Given the description of an element on the screen output the (x, y) to click on. 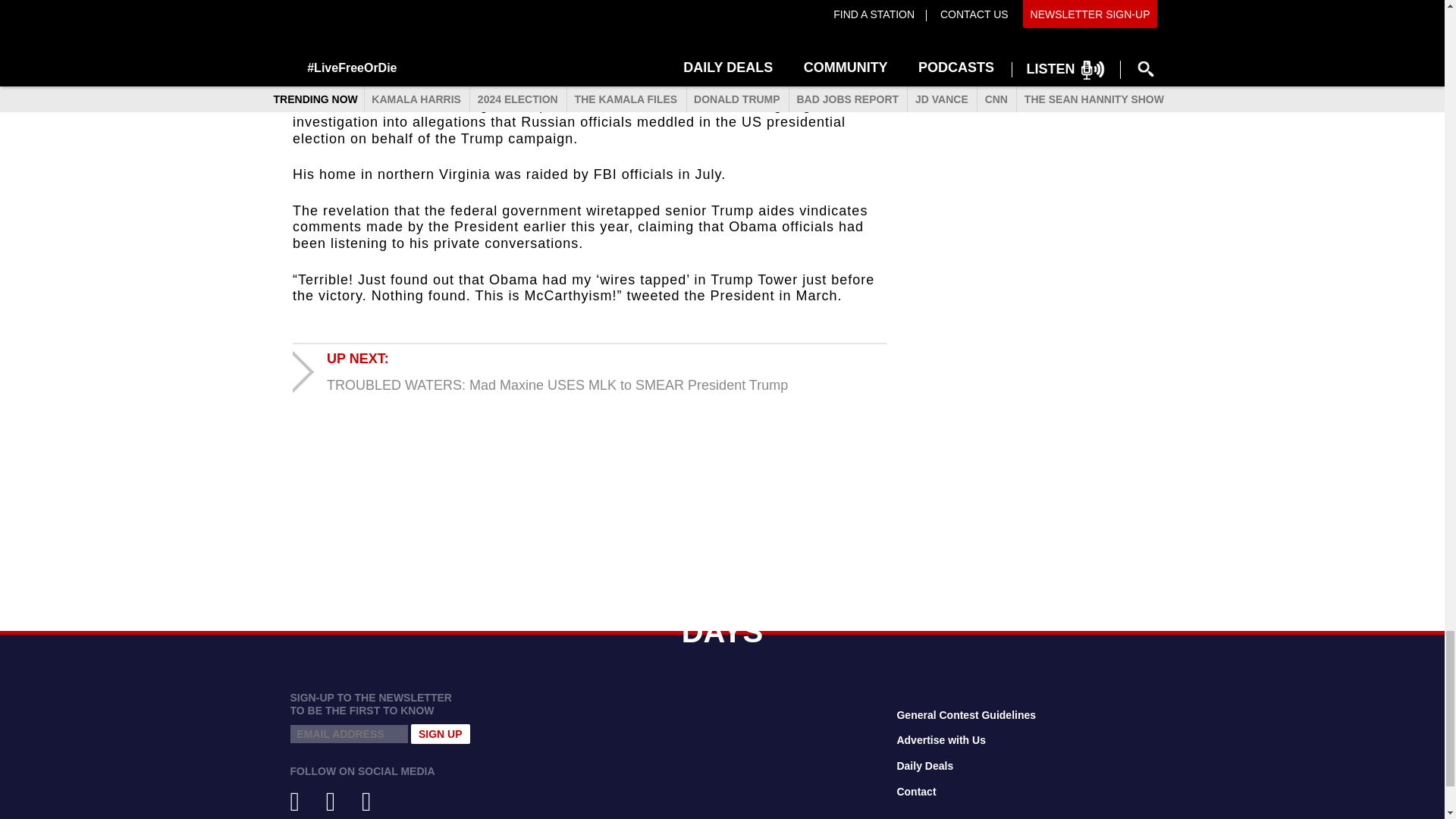
Sign Up (440, 733)
